Given the description of an element on the screen output the (x, y) to click on. 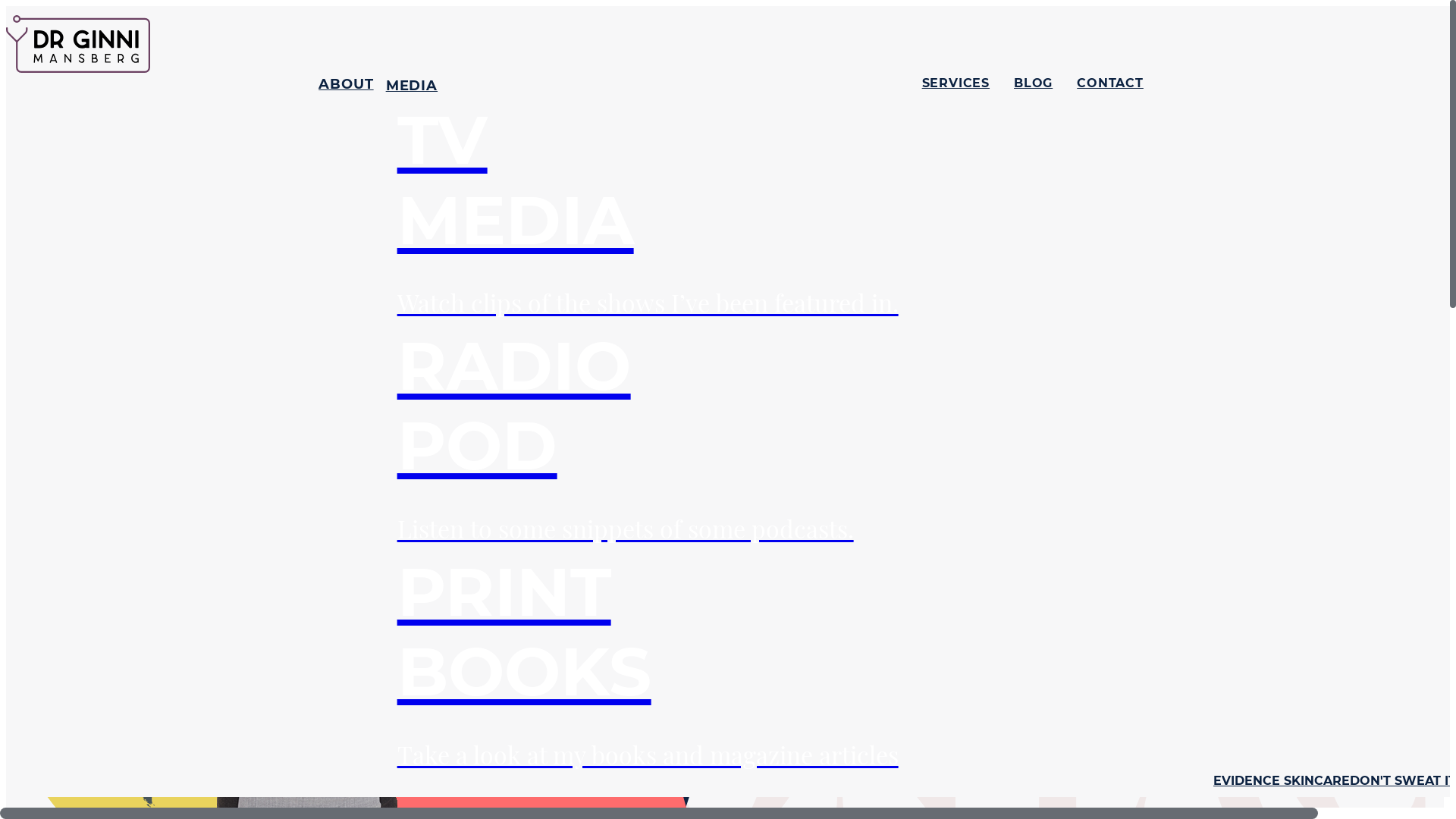
RADIO POD
Listen to some snippets of some podcasts. Element type: text (647, 435)
EVIDENCE SKINCARE Element type: text (1281, 780)
SERVICES Element type: text (955, 424)
CONTACT Element type: text (1109, 424)
PRINT BOOKS
Take a look at my books and magazine articles Element type: text (647, 661)
MEDIA Element type: text (411, 85)
BLOG Element type: text (1032, 424)
ABOUT Element type: text (345, 424)
SUBMIT Element type: text (64, 219)
